Given the description of an element on the screen output the (x, y) to click on. 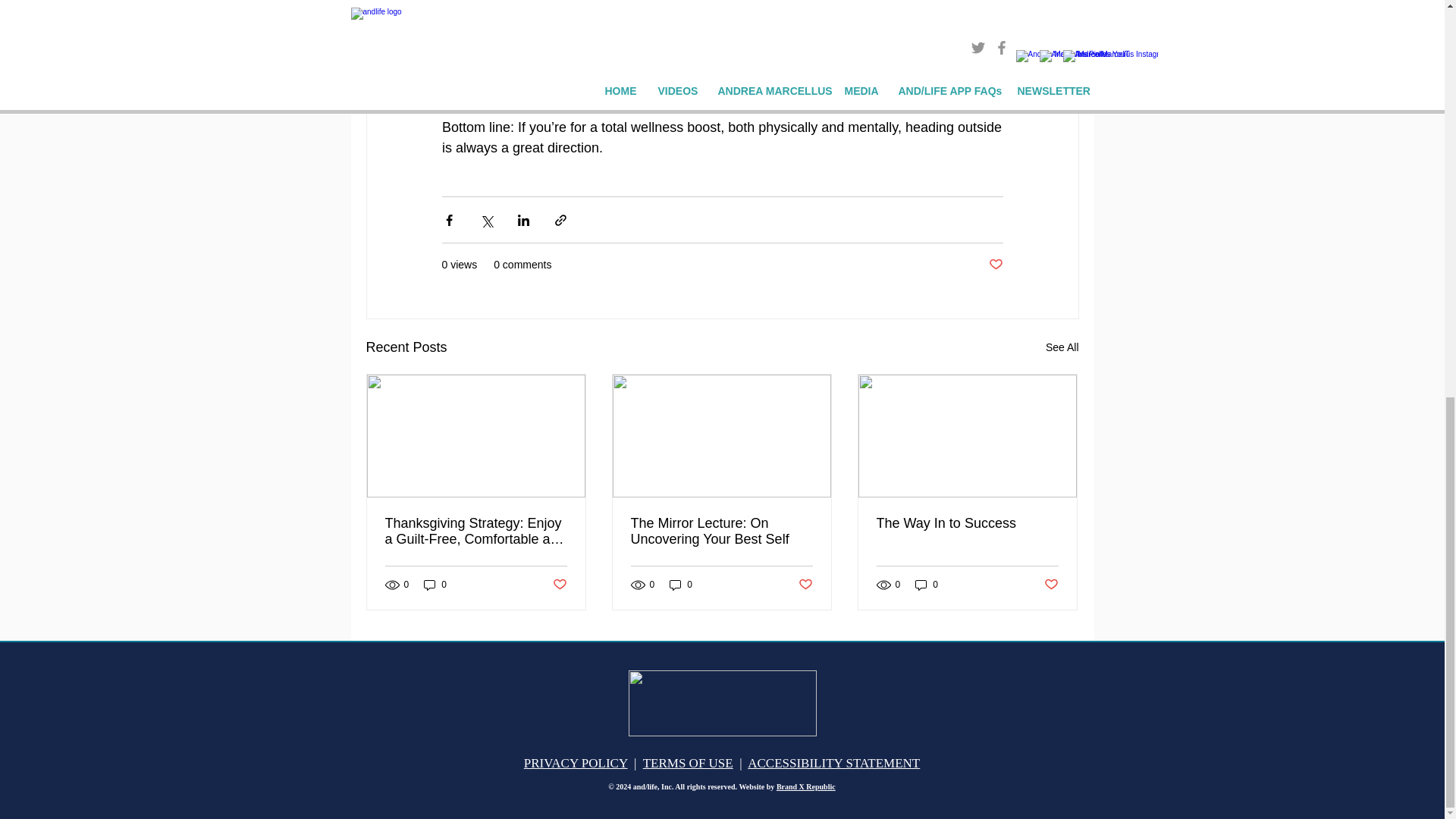
Post not marked as liked (558, 584)
ACCESSIBILITY STATEMENT (834, 762)
Post not marked as liked (995, 264)
0 (681, 585)
See All (1061, 347)
TERMS OF USE (688, 762)
Post not marked as liked (804, 584)
0 (435, 585)
PRIVACY POLICY (575, 762)
0 (926, 585)
